Given the description of an element on the screen output the (x, y) to click on. 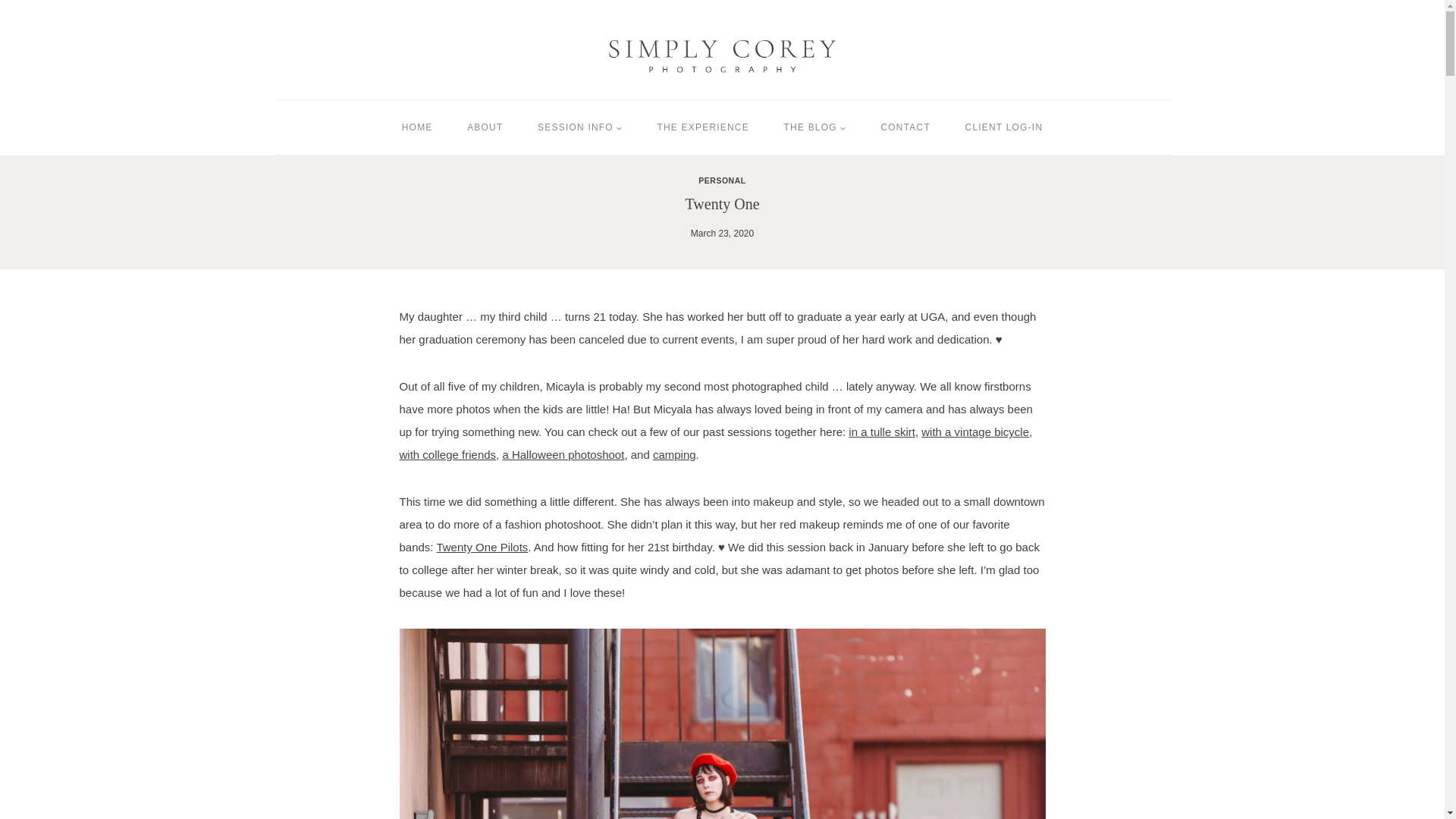
SESSION INFO (579, 126)
CLIENT LOG-IN (1003, 126)
THE EXPERIENCE (703, 126)
ABOUT (484, 126)
in a tulle skirt (881, 431)
with college friends (447, 454)
PERSONAL (721, 180)
THE BLOG (815, 126)
a Halloween photoshoot (563, 454)
Twenty One Pilots (481, 546)
